Given the description of an element on the screen output the (x, y) to click on. 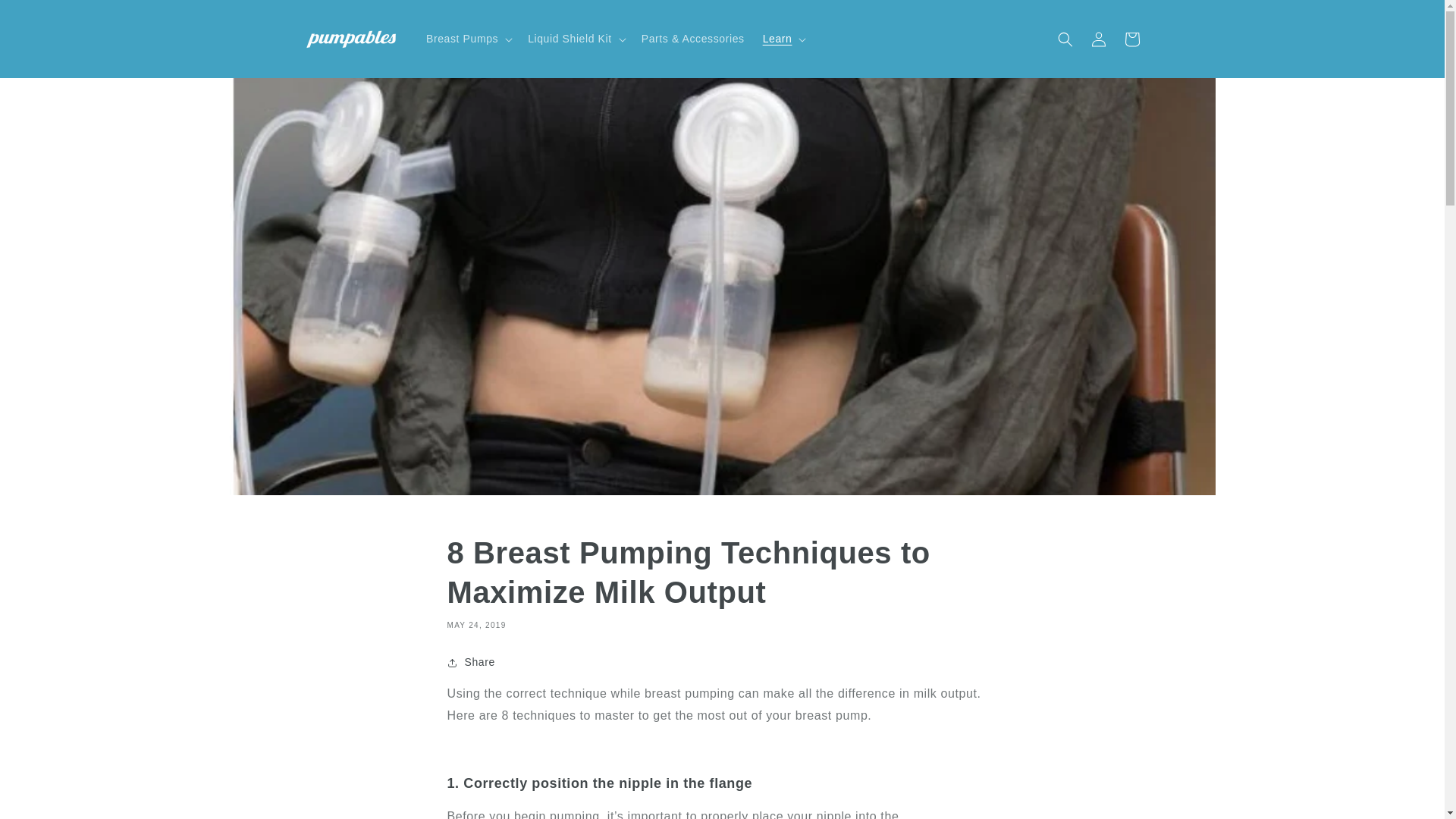
Skip to content (45, 17)
Cart (1131, 39)
Log in (1098, 39)
